Given the description of an element on the screen output the (x, y) to click on. 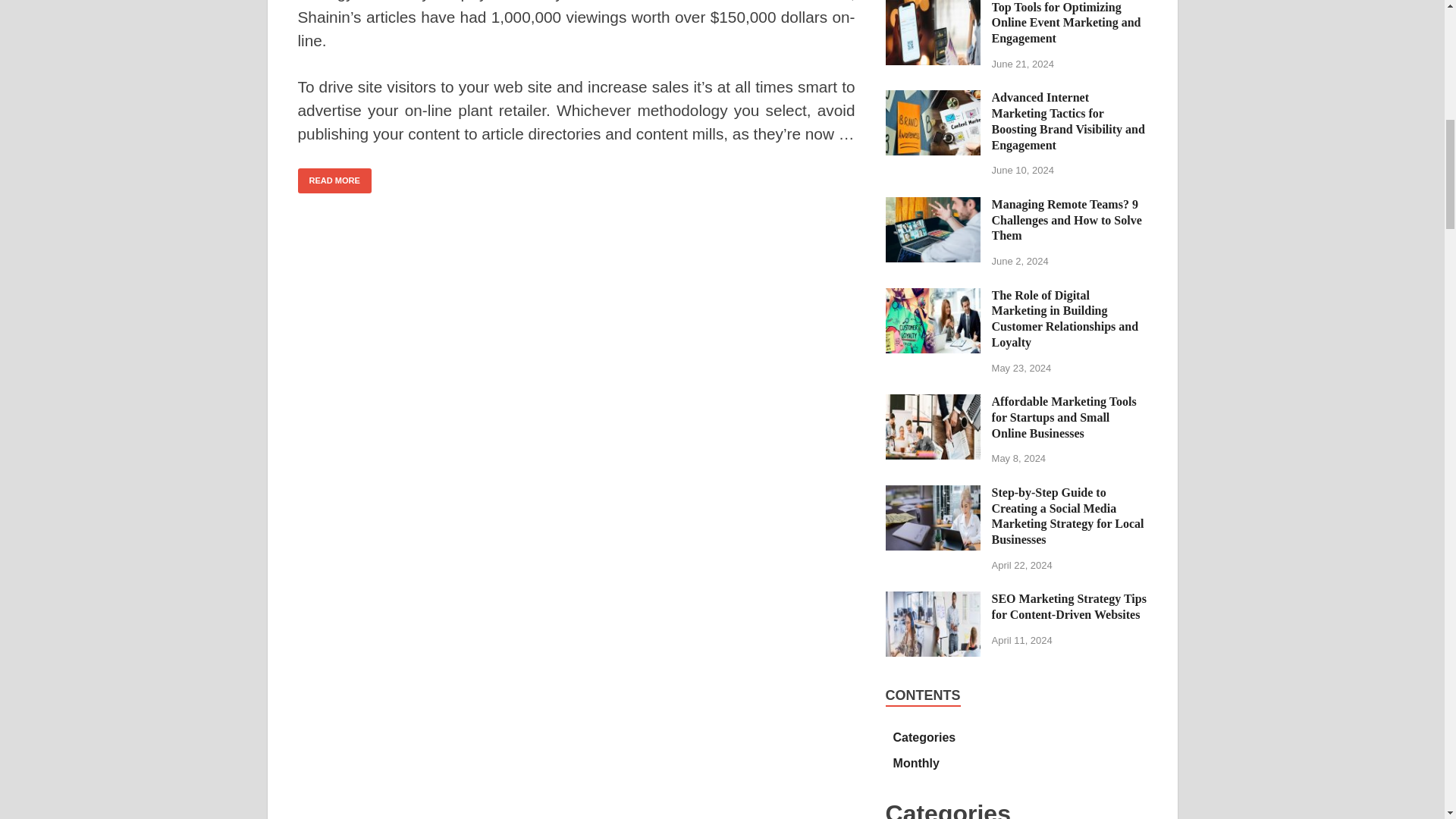
READ MORE (334, 180)
Managing Remote Teams? 9 Challenges and How to Solve Them (932, 205)
SEO Marketing Strategy Tips for Content-Driven Websites (932, 599)
